Given the description of an element on the screen output the (x, y) to click on. 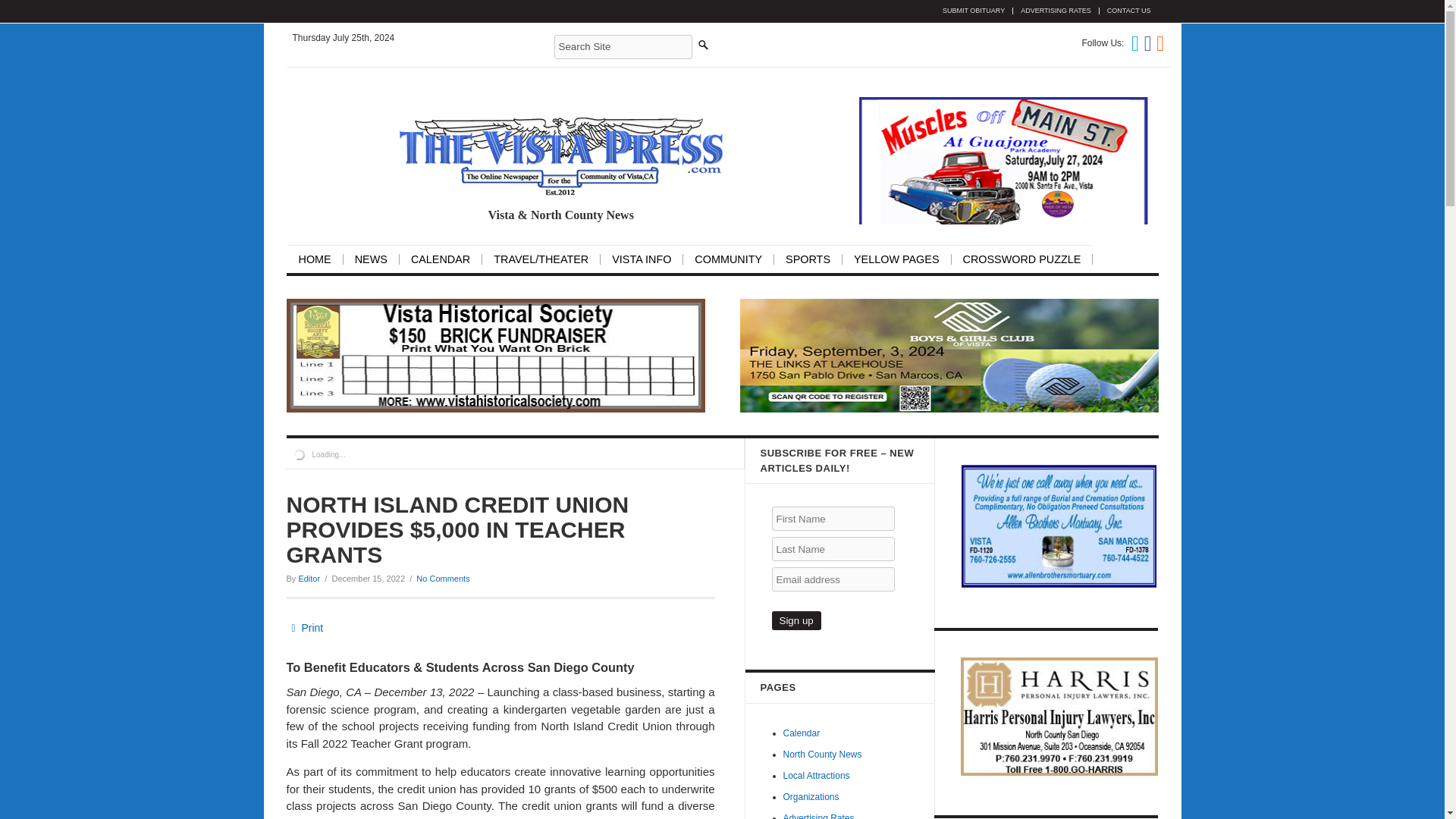
NEWS (376, 258)
TRAVEL (546, 258)
Sign up (796, 619)
Print Article (307, 627)
  Print (307, 627)
HOME (320, 258)
No Comments (442, 578)
CONTACT US (1125, 10)
Posts by Editor (309, 578)
COMMUNITY (734, 258)
ADVERTISING RATES (1050, 10)
CALENDAR (445, 258)
CROSSWORD PUZZLE (1027, 258)
VISTA INFO (646, 258)
YELLOW PAGES (902, 258)
